Given the description of an element on the screen output the (x, y) to click on. 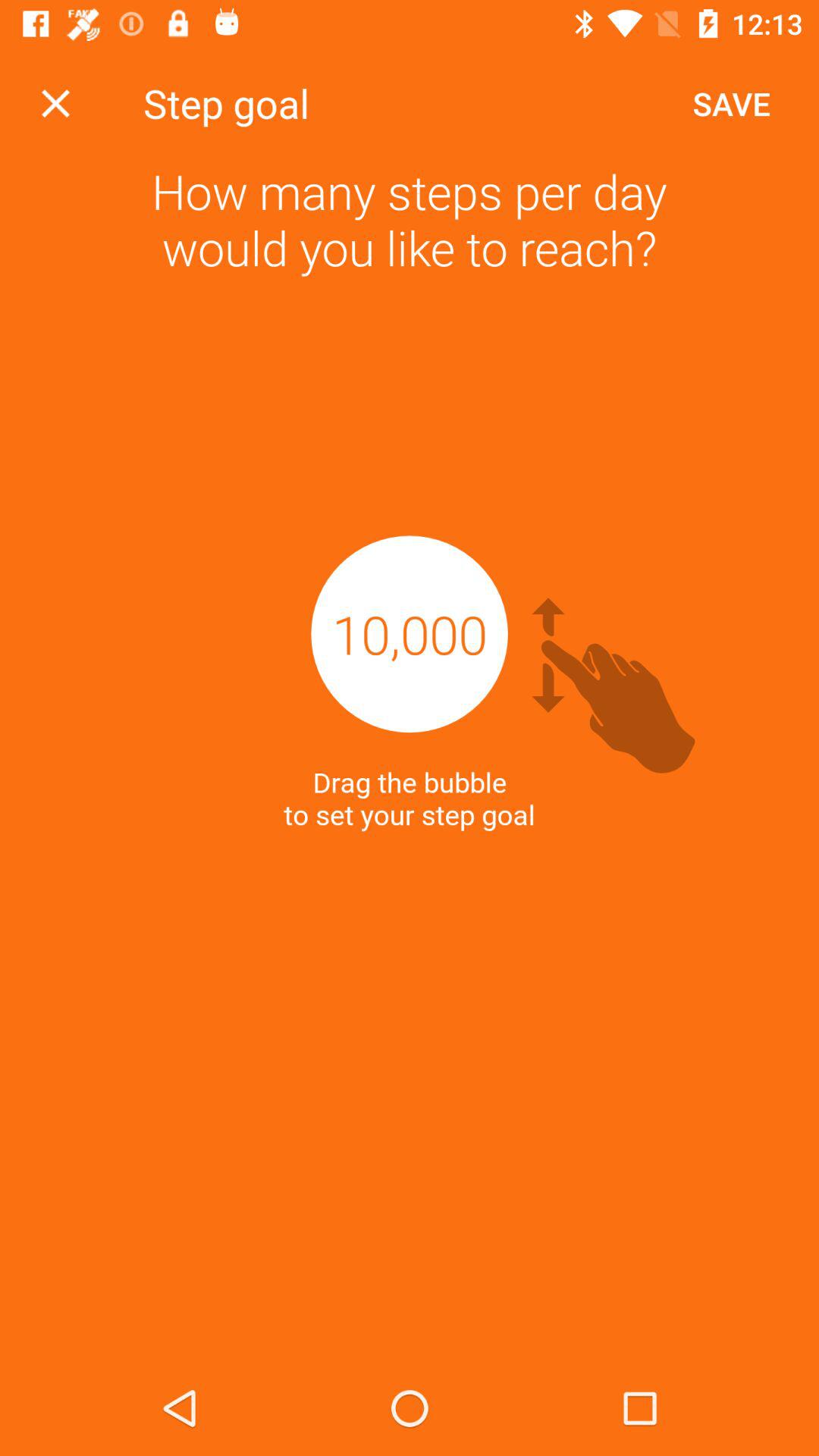
swipe to save item (731, 103)
